Given the description of an element on the screen output the (x, y) to click on. 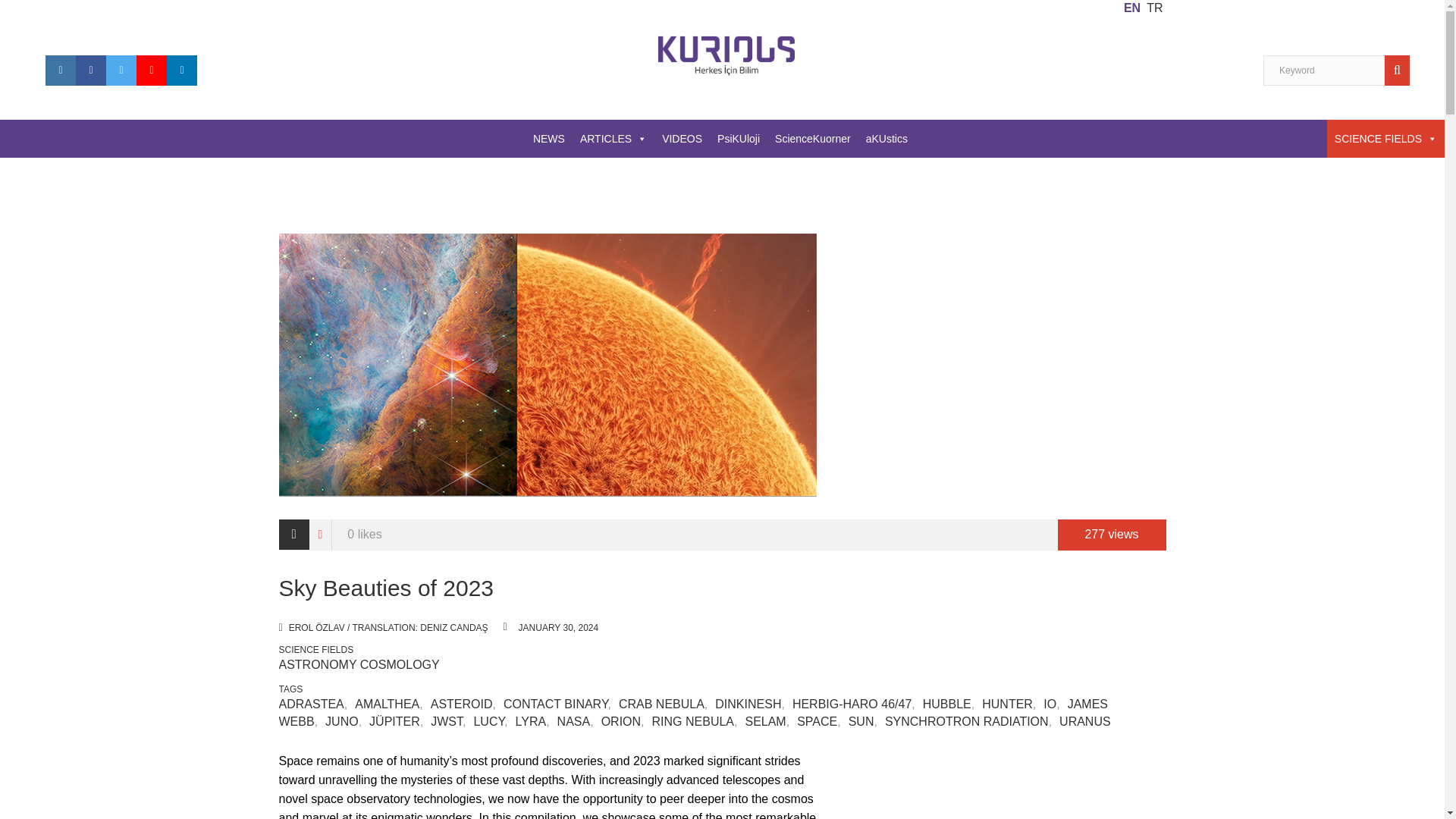
ARTICLES (612, 138)
Search (1399, 70)
Facebook (90, 70)
NEWS (548, 138)
Twitter (121, 70)
Search (1399, 70)
instagram (60, 70)
Linkedin (181, 70)
PsiKUloji (738, 138)
Youtube (151, 70)
